Given the description of an element on the screen output the (x, y) to click on. 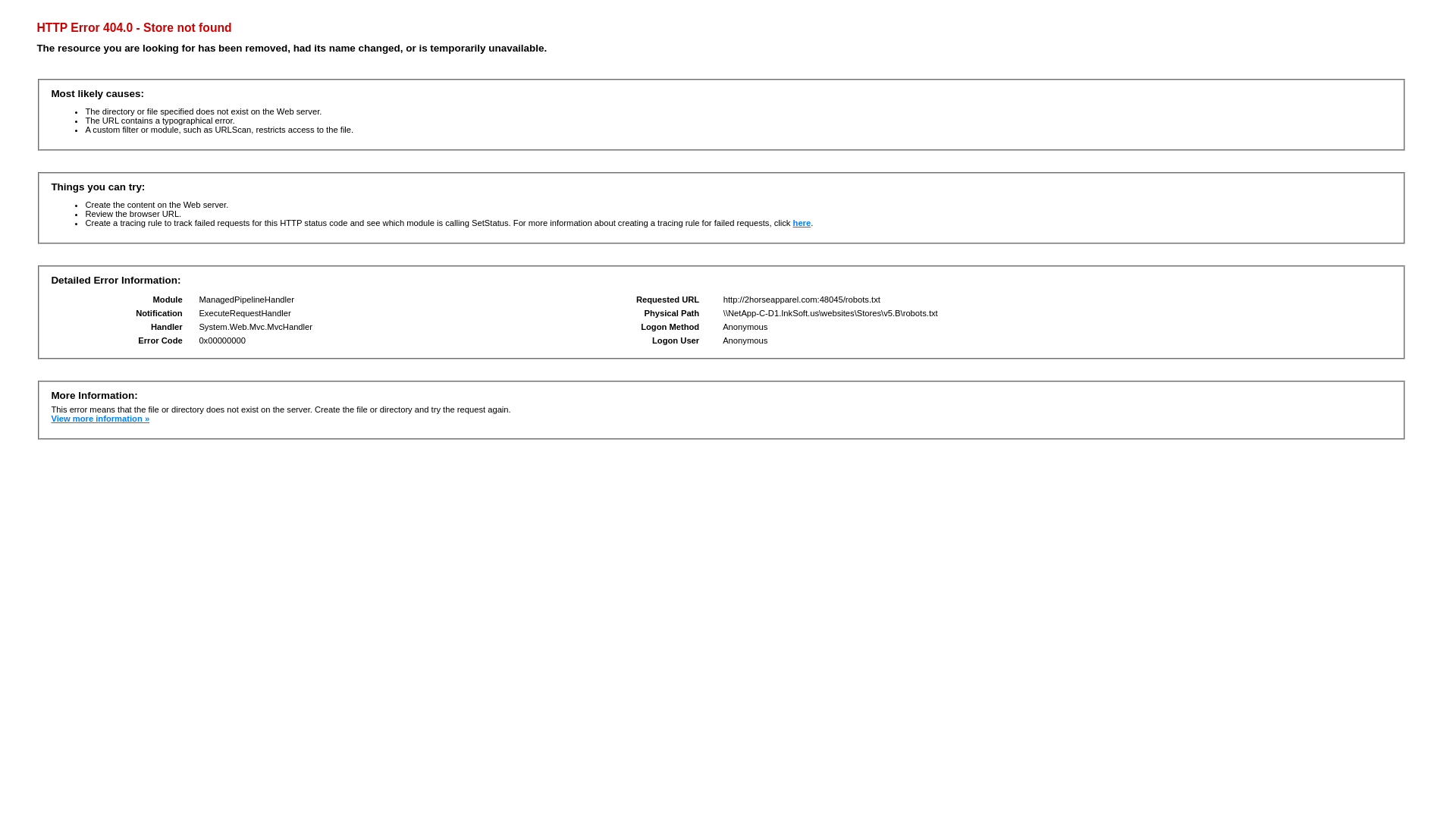
here Element type: text (802, 222)
